Given the description of an element on the screen output the (x, y) to click on. 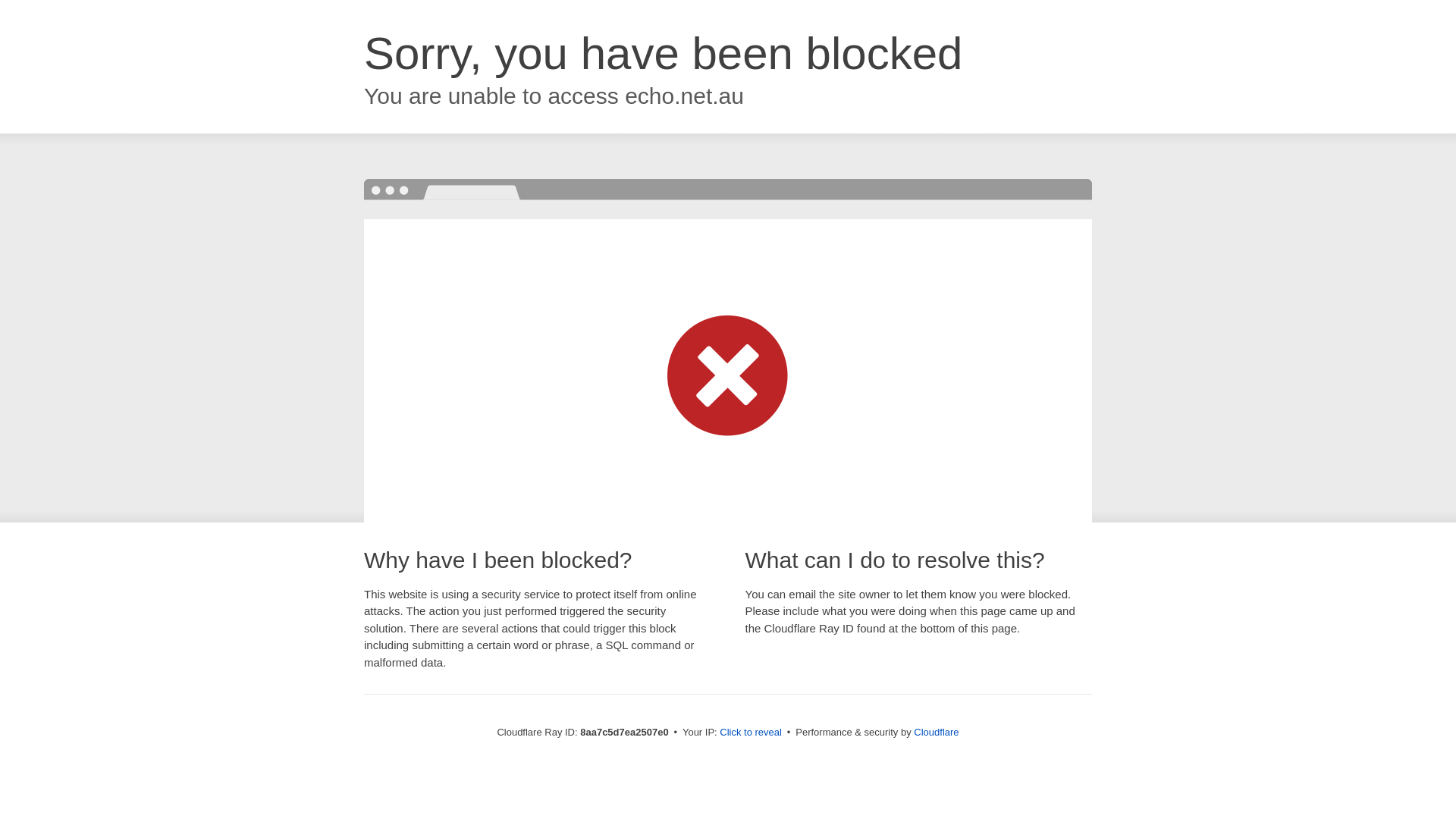
Cloudflare (936, 731)
Click to reveal (750, 732)
